Given the description of an element on the screen output the (x, y) to click on. 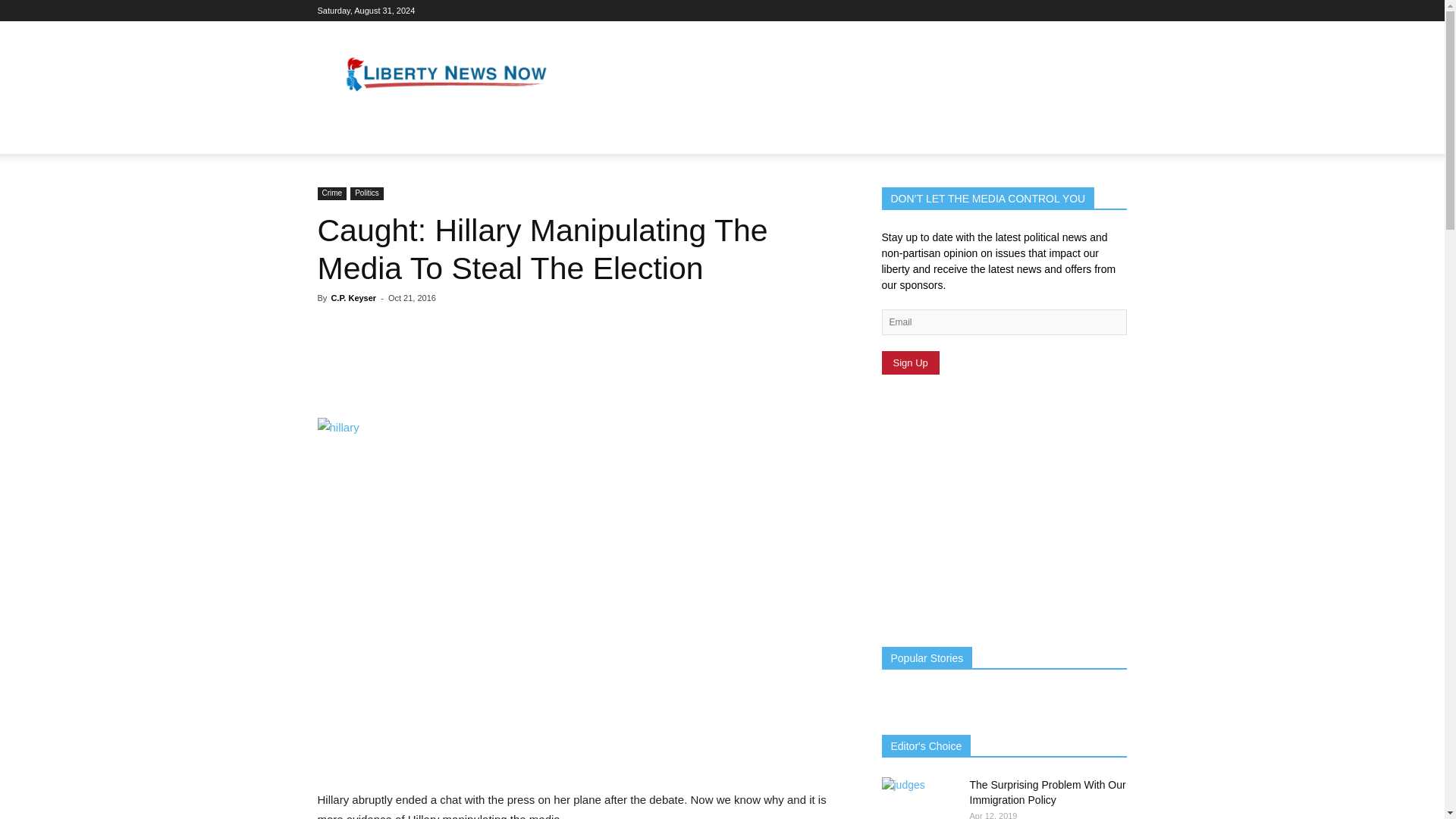
OPINION (491, 135)
POLITICS (352, 135)
CULTURE (422, 135)
Liberty News Now (445, 76)
Sign Up (909, 362)
